Given the description of an element on the screen output the (x, y) to click on. 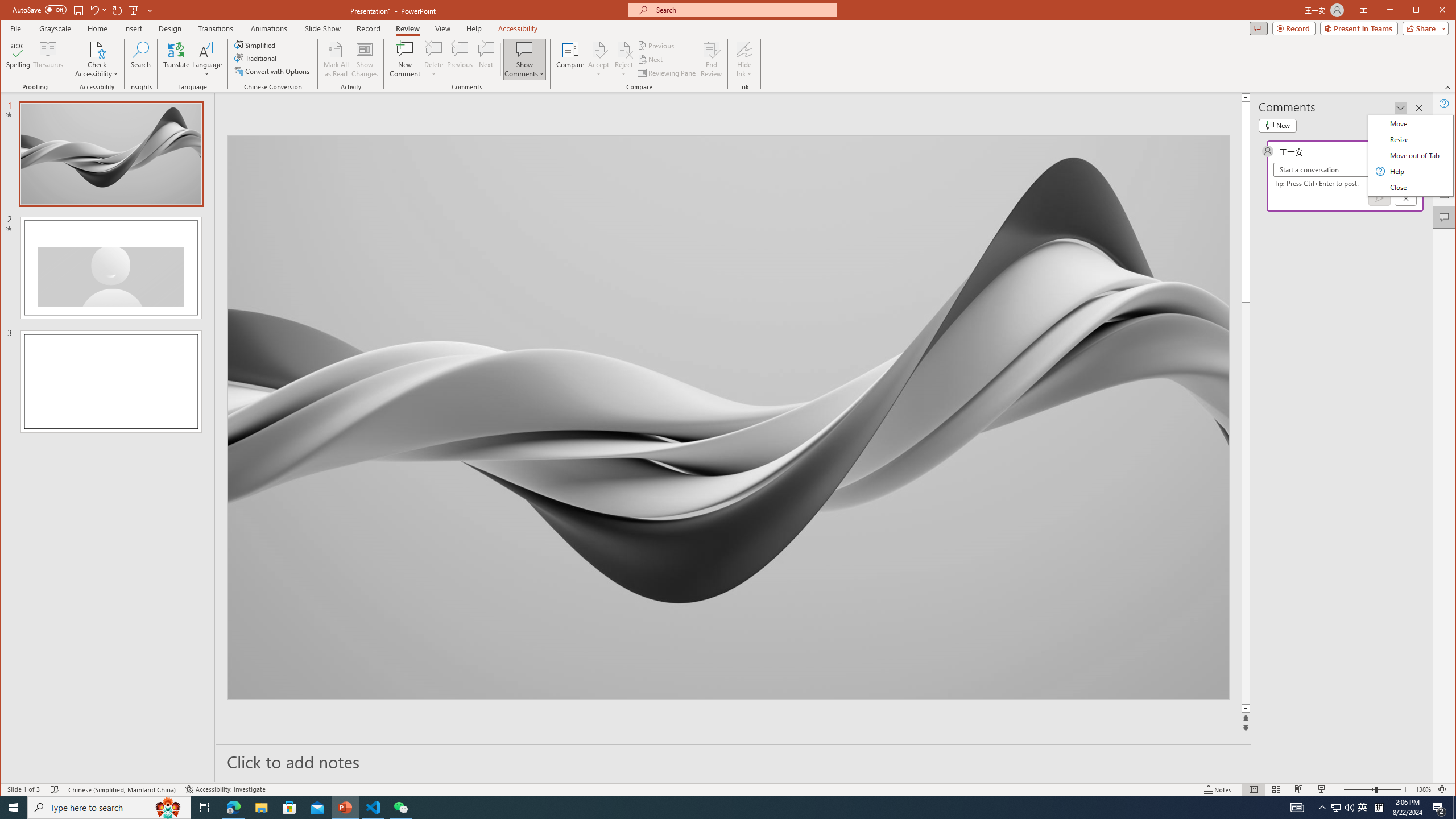
Design (170, 28)
Tray Input Indicator - Chinese (Simplified, China) (1378, 807)
File Explorer (261, 807)
Line down (1427, 709)
Accept Change (598, 48)
Class: Net UI Tool Window (1410, 155)
Collapse the Ribbon (1448, 87)
